Given the description of an element on the screen output the (x, y) to click on. 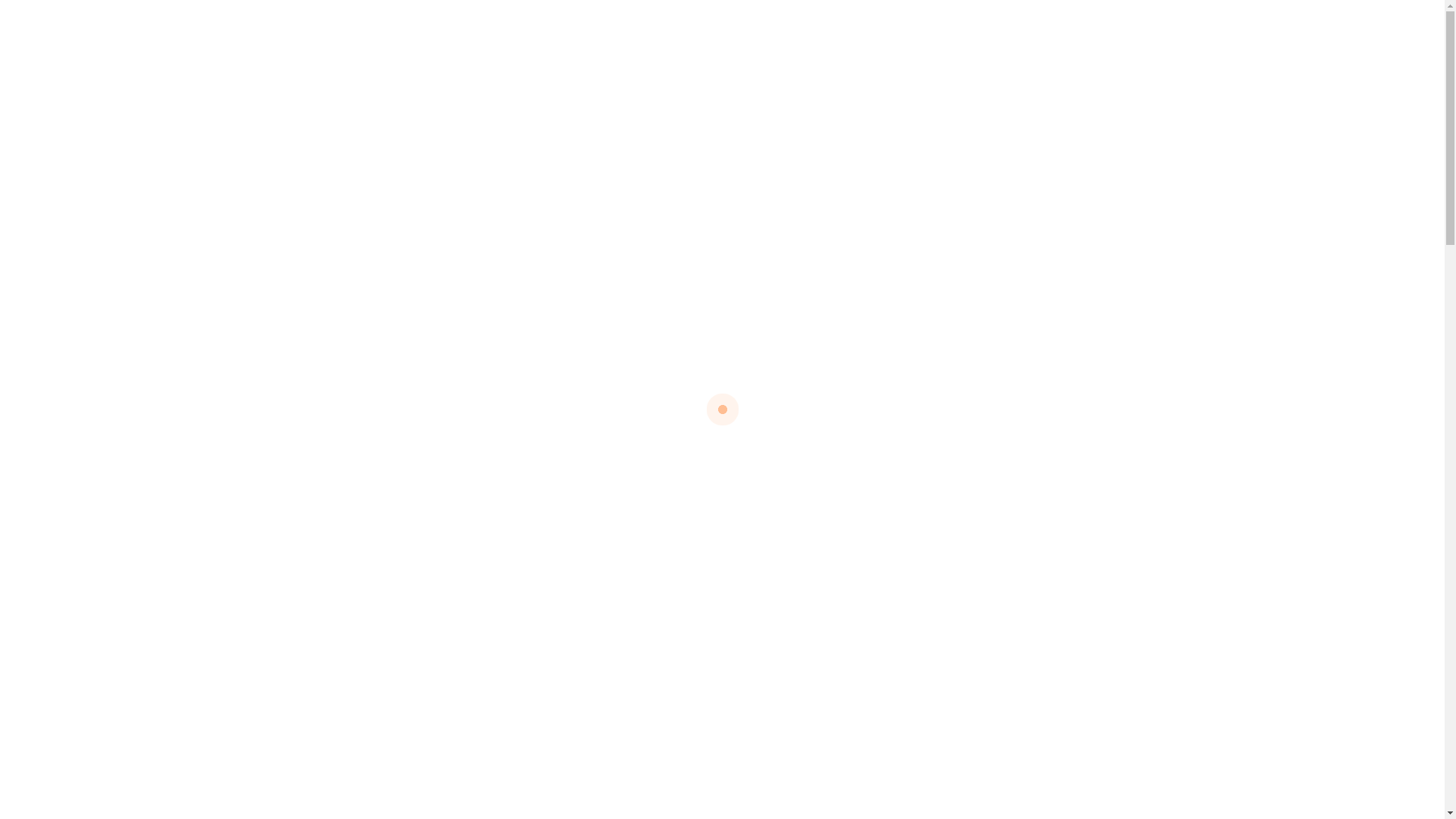
PLUMBING SERVICES Element type: text (485, 83)
Request a Service Element type: text (1212, 83)
Services Element type: text (672, 478)
FAQ Element type: text (747, 83)
CONTACT Element type: text (887, 83)
HOME Element type: text (379, 83)
Kitchen and Bathroom Remodeling Element type: text (404, 737)
ABOUT Element type: text (810, 83)
Sewer & Drain Cleaning and Repair Element type: text (404, 789)
Plumbing Maintenance and Repair Element type: text (404, 686)
COMMERCIAL PLUMBING Element type: text (639, 83)
micah.tilford@3rdgenok.com Element type: text (1122, 21)
Home Element type: text (608, 478)
